Given the description of an element on the screen output the (x, y) to click on. 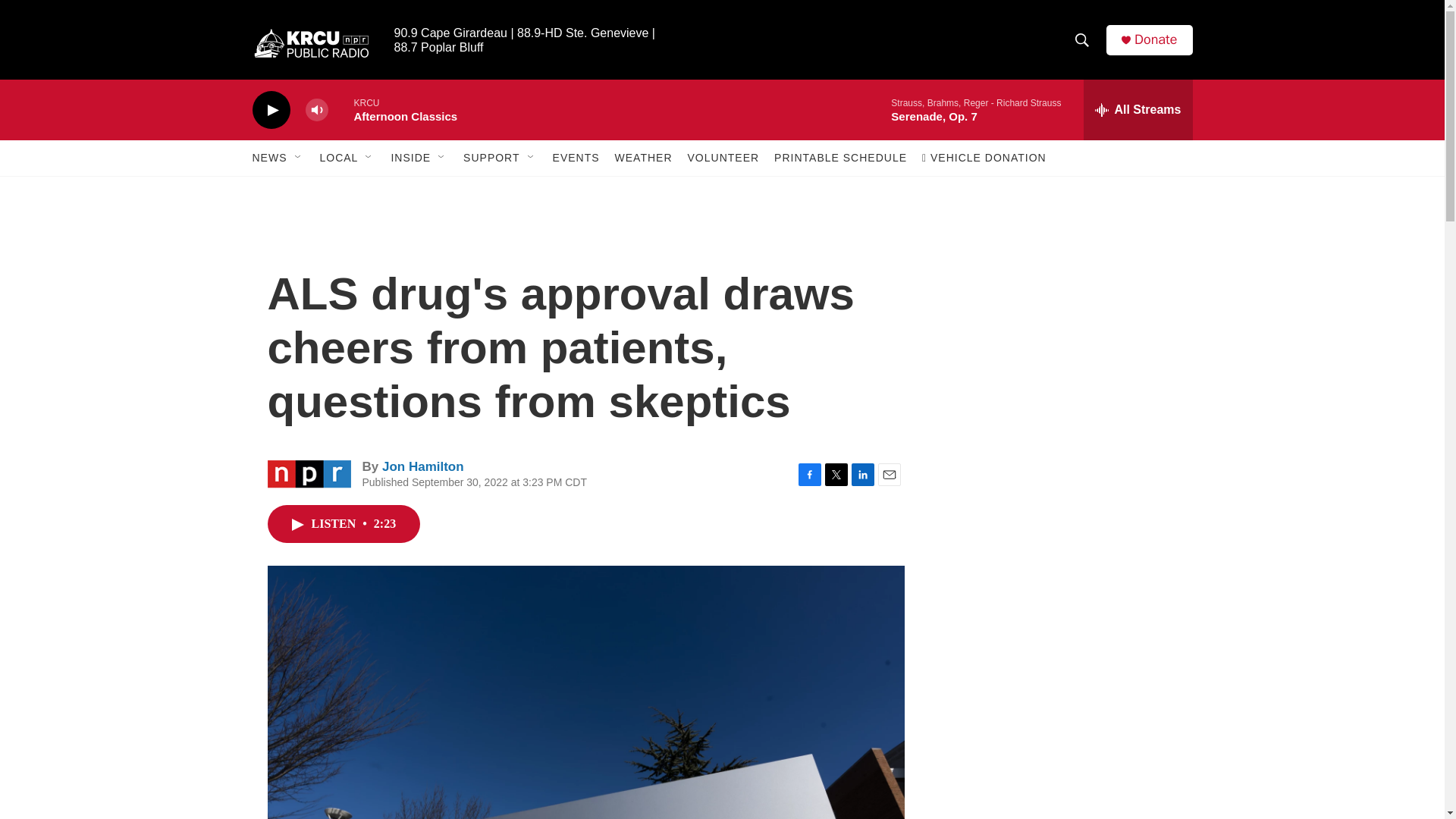
3rd party ad content (1062, 316)
3rd party ad content (1062, 740)
3rd party ad content (1063, 536)
